Given the description of an element on the screen output the (x, y) to click on. 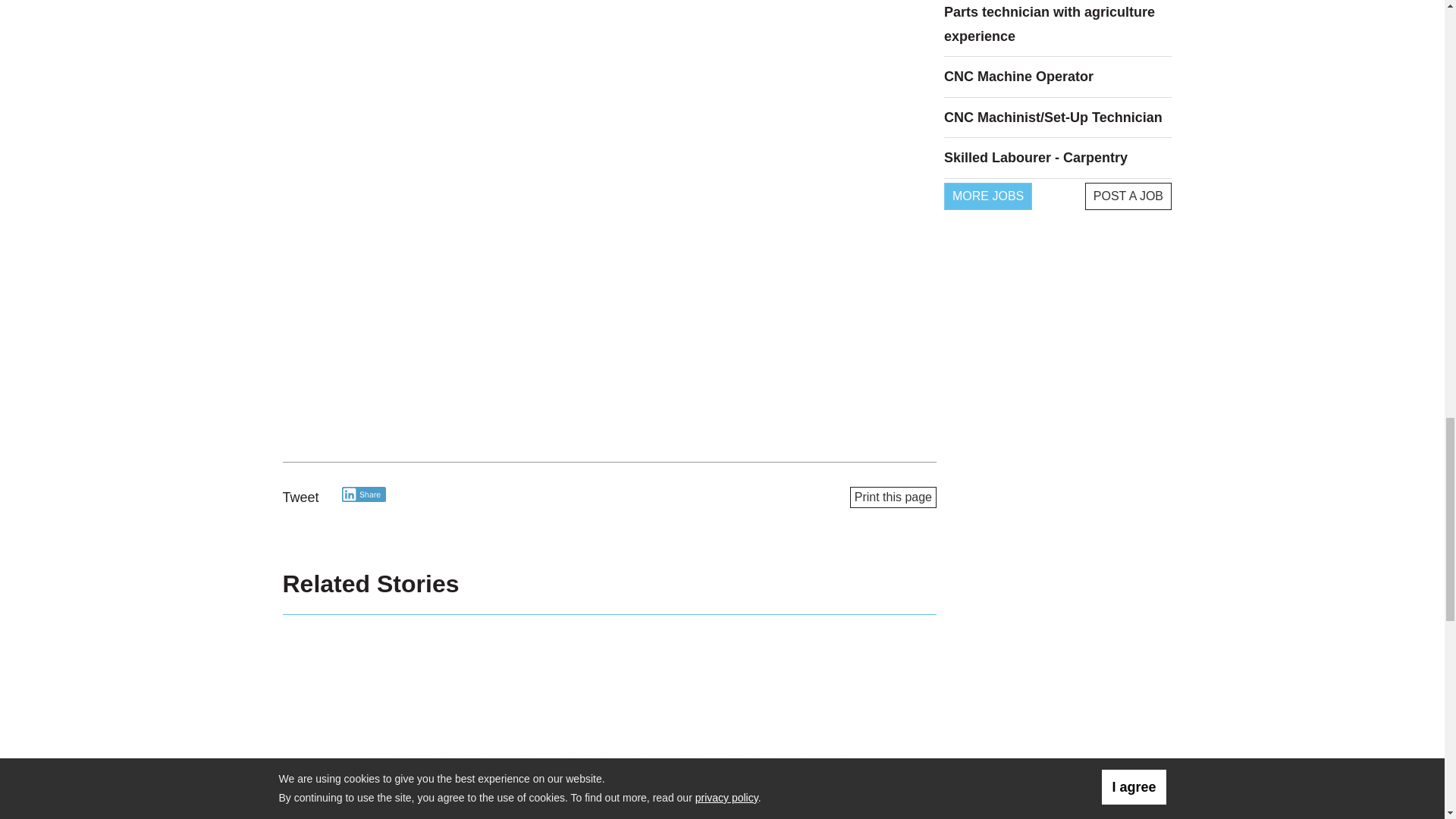
3rd party ad content (609, 760)
